Given the description of an element on the screen output the (x, y) to click on. 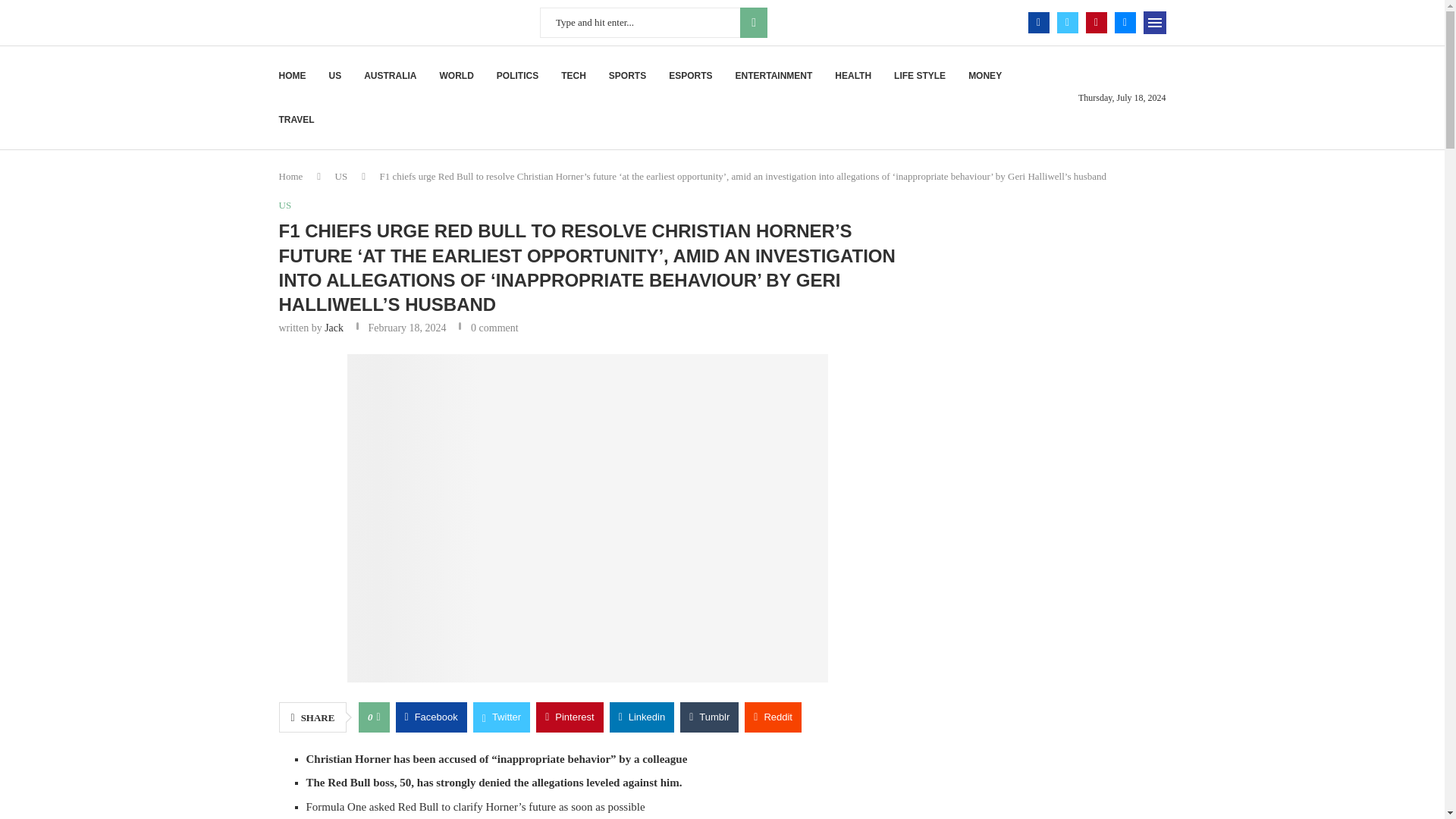
ESPORTS (689, 75)
POLITICS (517, 75)
LIFE STYLE (918, 75)
ENTERTAINMENT (773, 75)
AUSTRALIA (390, 75)
SEARCH (753, 22)
